Given the description of an element on the screen output the (x, y) to click on. 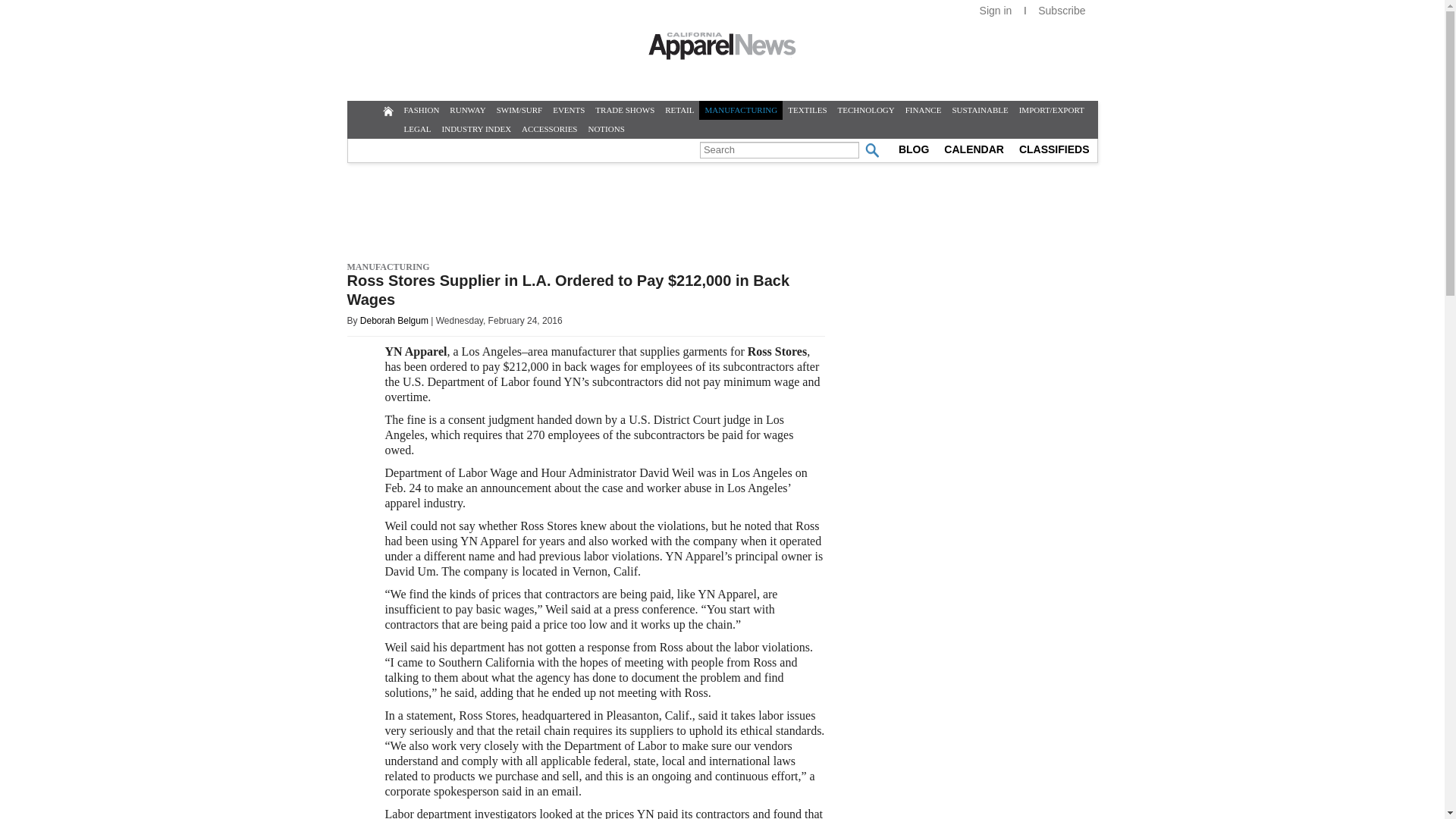
CLASSIFIEDS (1054, 149)
ACCESSORIES (549, 128)
3rd party ad content (721, 213)
RETAIL (678, 109)
3rd party ad content (1027, 66)
California Apparel News (721, 45)
NOTIONS (605, 128)
Deborah Belgum (393, 320)
MANUFACTURING (740, 109)
Subscribe (1061, 10)
INDUSTRY INDEX (476, 128)
Sign in (995, 10)
3rd party ad content (983, 790)
EVENTS (568, 109)
CALENDAR (973, 149)
